Given the description of an element on the screen output the (x, y) to click on. 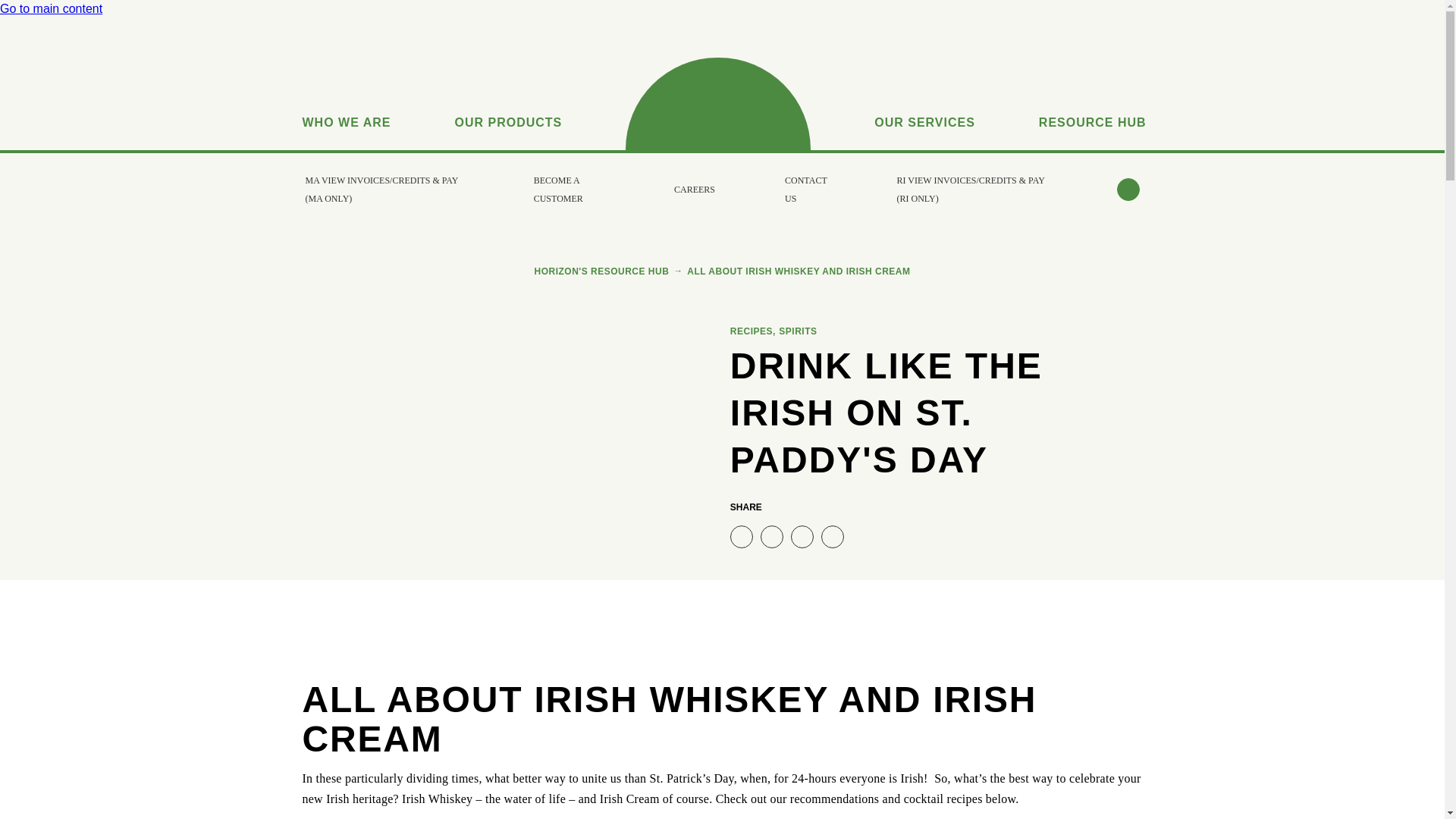
RESOURCE HUB (1092, 103)
WHO WE ARE (345, 103)
Go to main content (50, 8)
OUR SERVICES (925, 103)
OUR PRODUCTS (508, 103)
HORIZON BEVERAGE (718, 103)
